Given the description of an element on the screen output the (x, y) to click on. 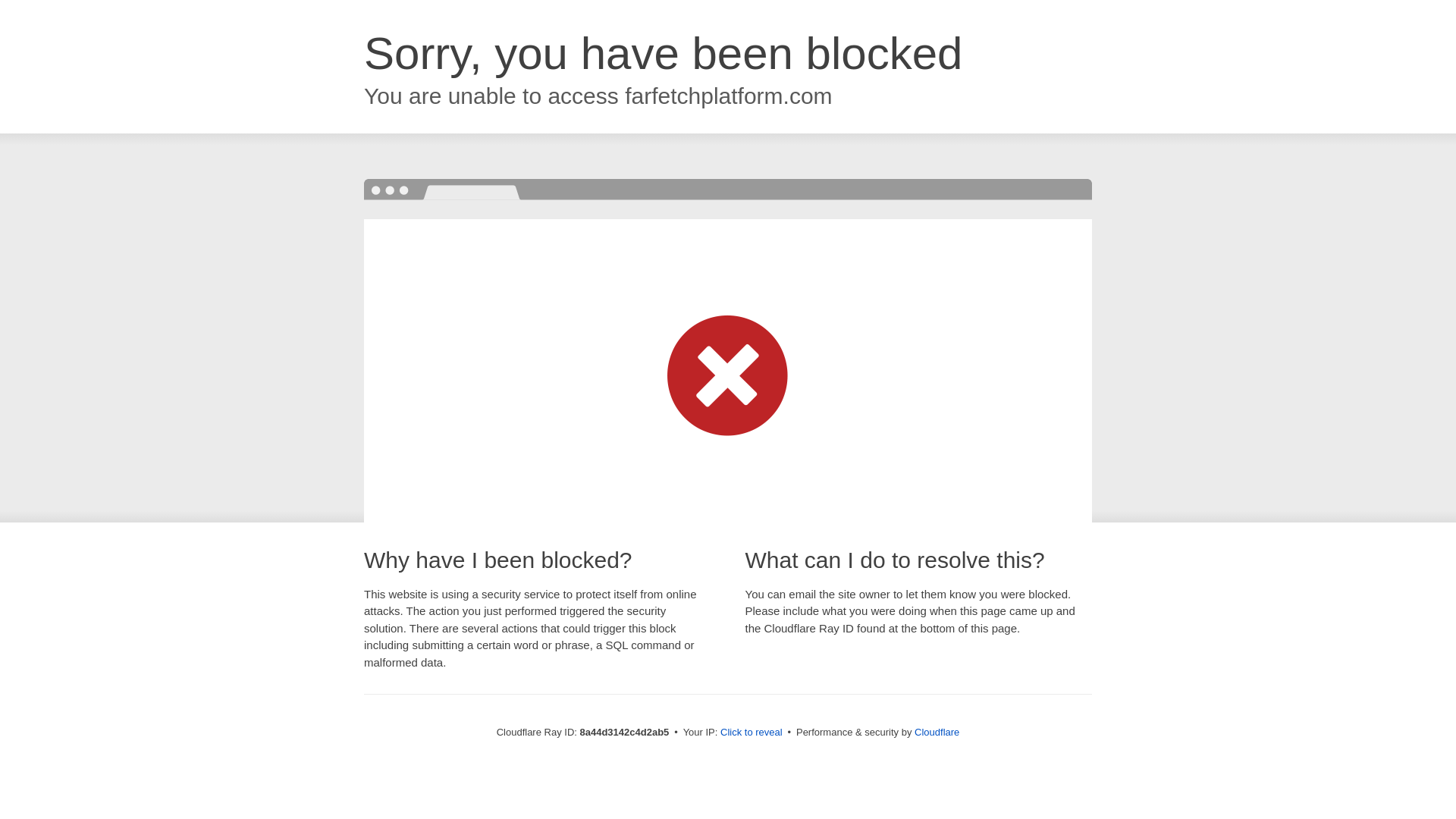
Cloudflare (936, 731)
Click to reveal (751, 732)
